Given the description of an element on the screen output the (x, y) to click on. 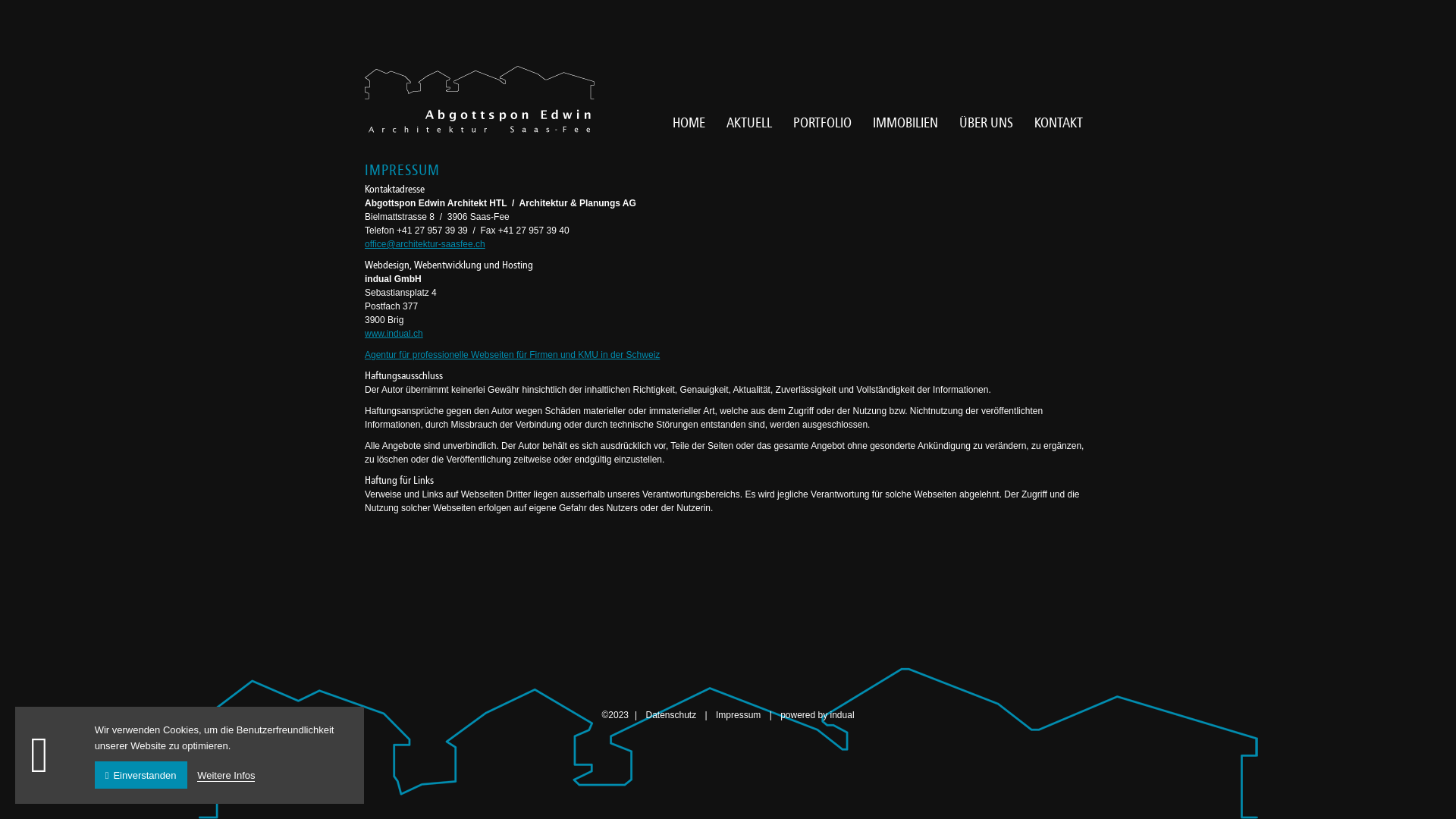
Impressum Element type: text (739, 714)
PORTFOLIO Element type: text (821, 122)
office@architektur-saasfee.ch Element type: text (424, 243)
Einverstanden Element type: text (140, 774)
KONTAKT Element type: text (1058, 122)
Datenschutz Element type: text (671, 714)
www.indual.ch Element type: text (393, 333)
AKTUELL Element type: text (749, 122)
powered by indual Element type: text (816, 714)
HOME Element type: text (688, 122)
IMMOBILIEN Element type: text (905, 122)
Weitere Infos Element type: text (225, 775)
